Given the description of an element on the screen output the (x, y) to click on. 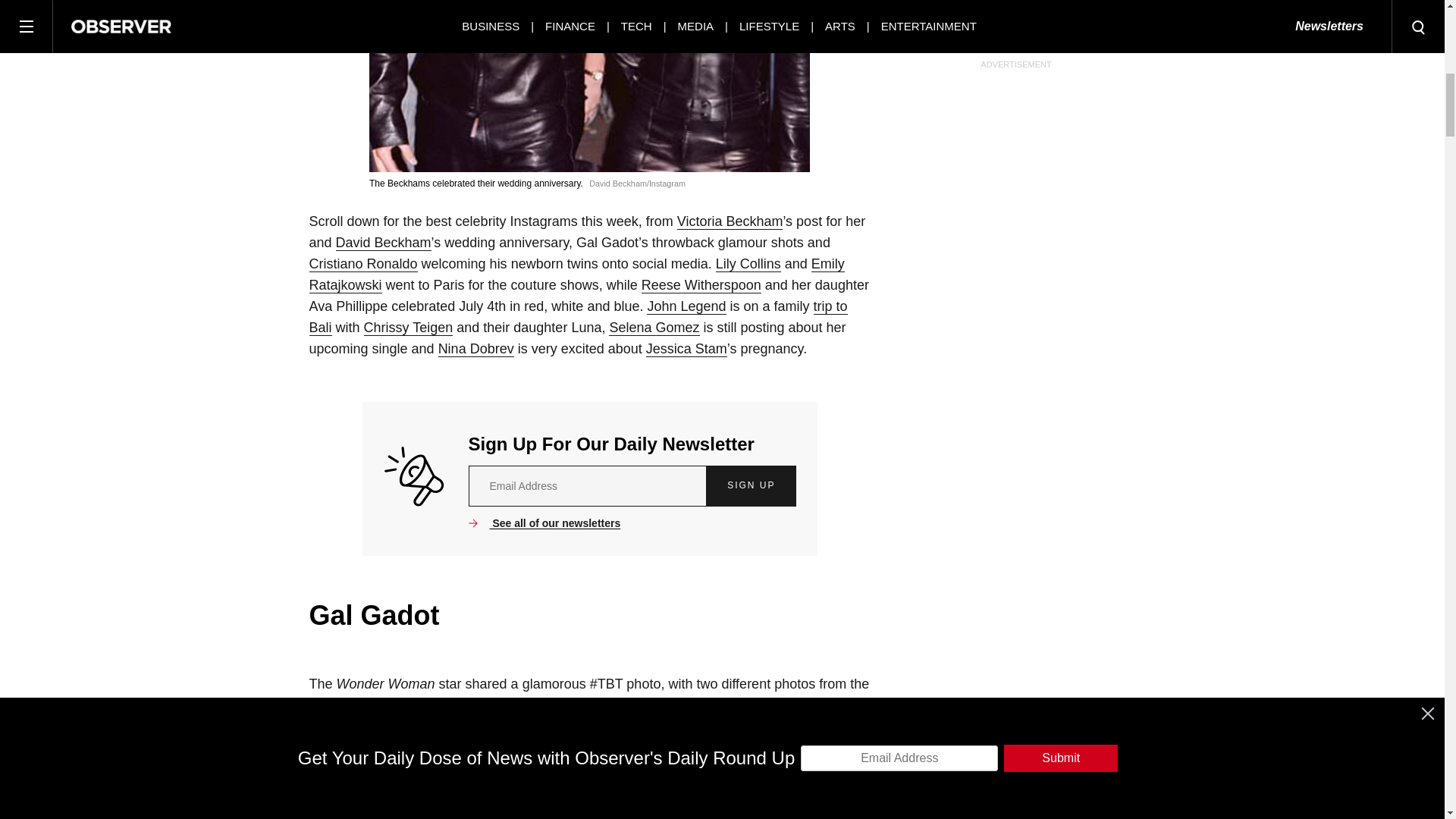
Reese Witherspoon (701, 285)
David Beckham (383, 242)
Cristiano Ronaldo (362, 263)
Victoria Beckham (730, 221)
Jessica Stam (686, 349)
Chrissy Teigen (408, 327)
